Given the description of an element on the screen output the (x, y) to click on. 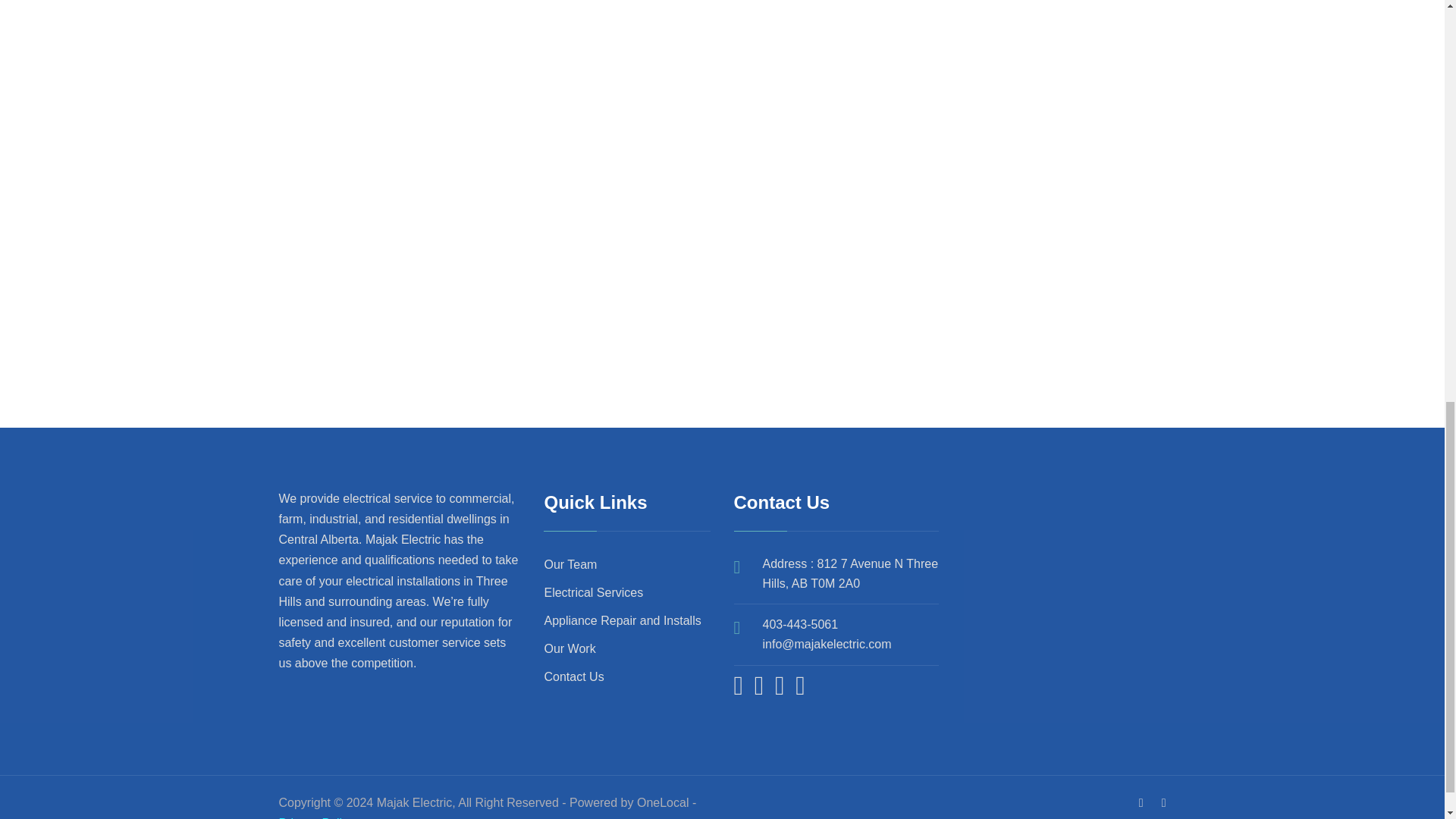
Privacy Policy (317, 817)
Our Work (569, 648)
Contact Us (573, 676)
403-443-5061 (800, 624)
Our Team (569, 563)
Appliance Repair and Installs (621, 620)
Electrical Services (593, 592)
